Given the description of an element on the screen output the (x, y) to click on. 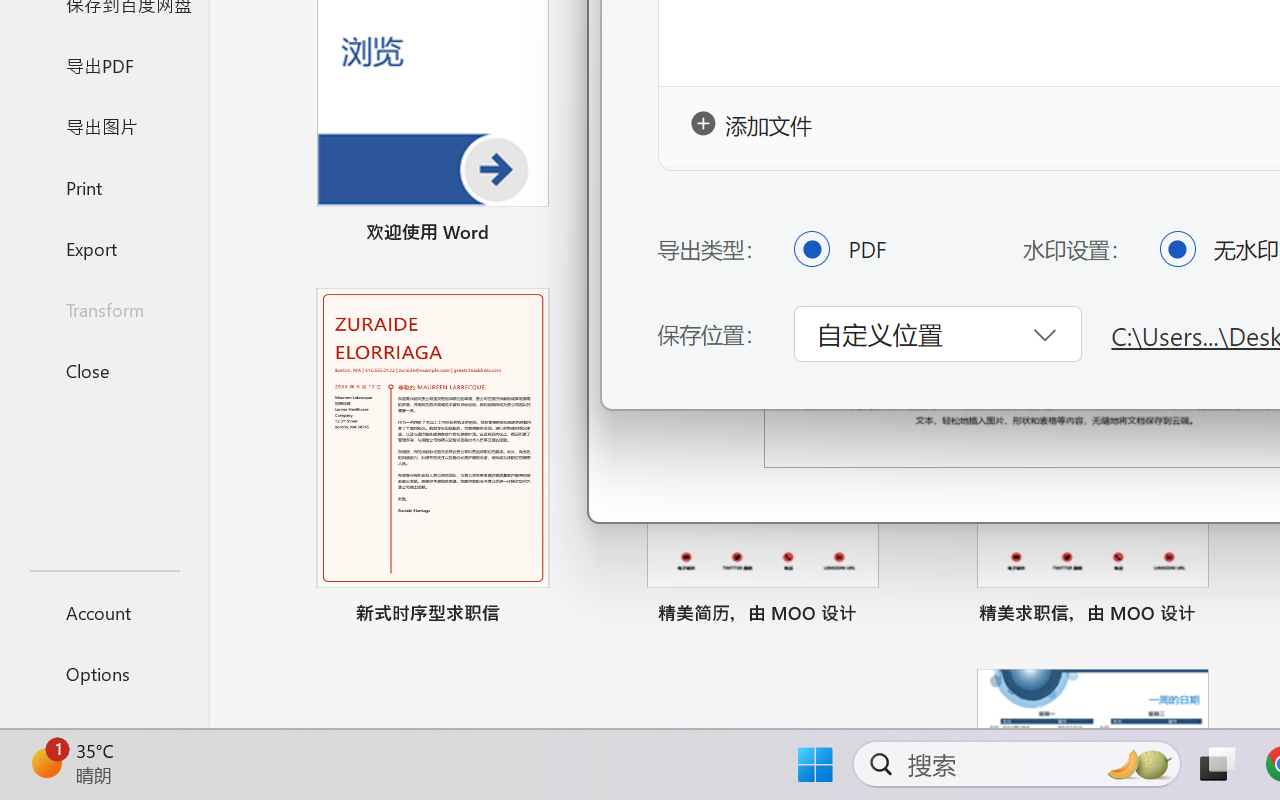
Export (104, 248)
Account (104, 612)
Pin to list (1223, 616)
Transform (104, 309)
